Given the description of an element on the screen output the (x, y) to click on. 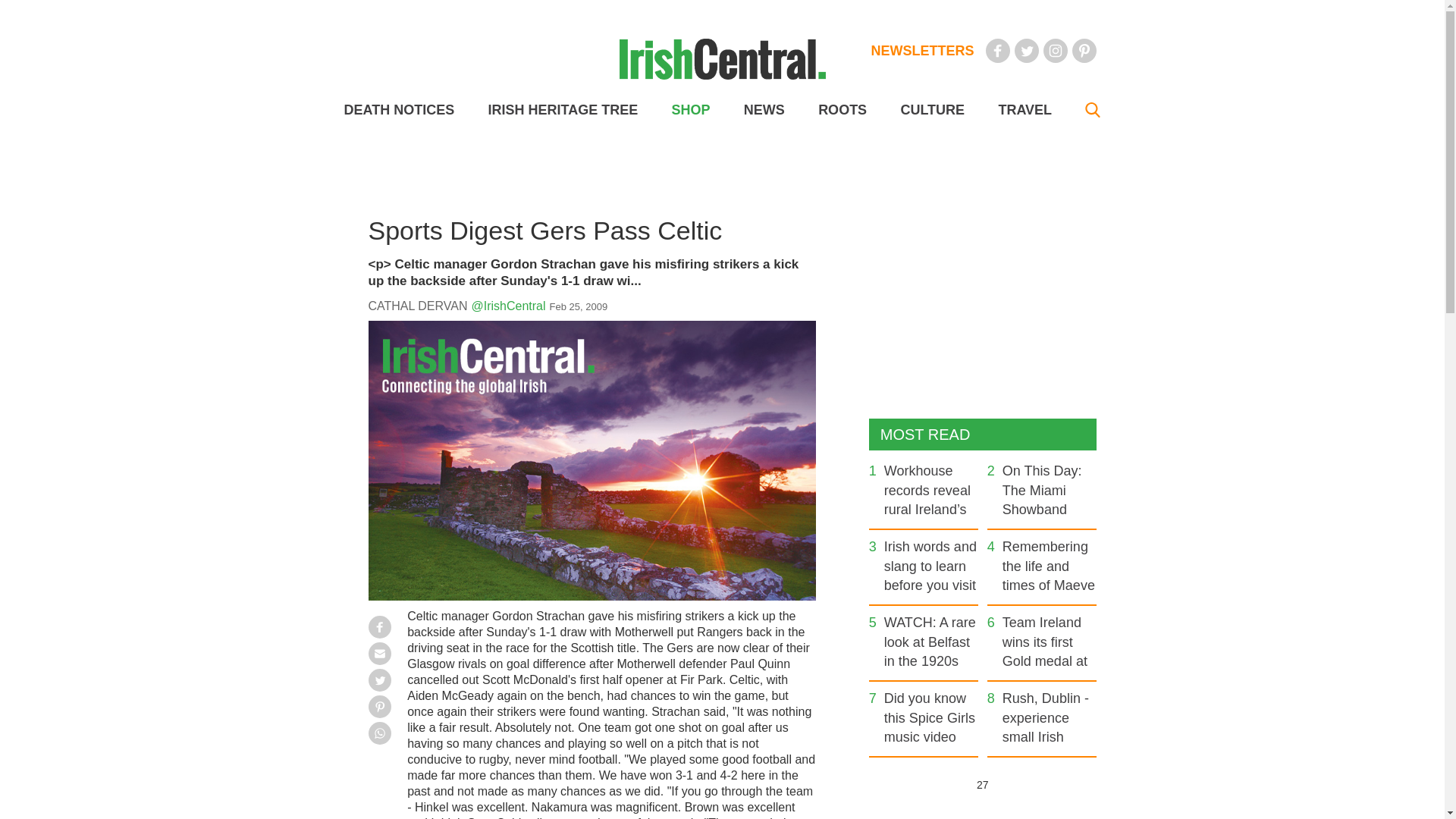
SHOP (690, 109)
DEATH NOTICES (398, 109)
ROOTS (842, 109)
IRISH HERITAGE TREE (562, 109)
27 (981, 784)
CULTURE (931, 109)
TRAVEL (1024, 109)
NEWS (764, 109)
NEWSLETTERS (922, 50)
